Given the description of an element on the screen output the (x, y) to click on. 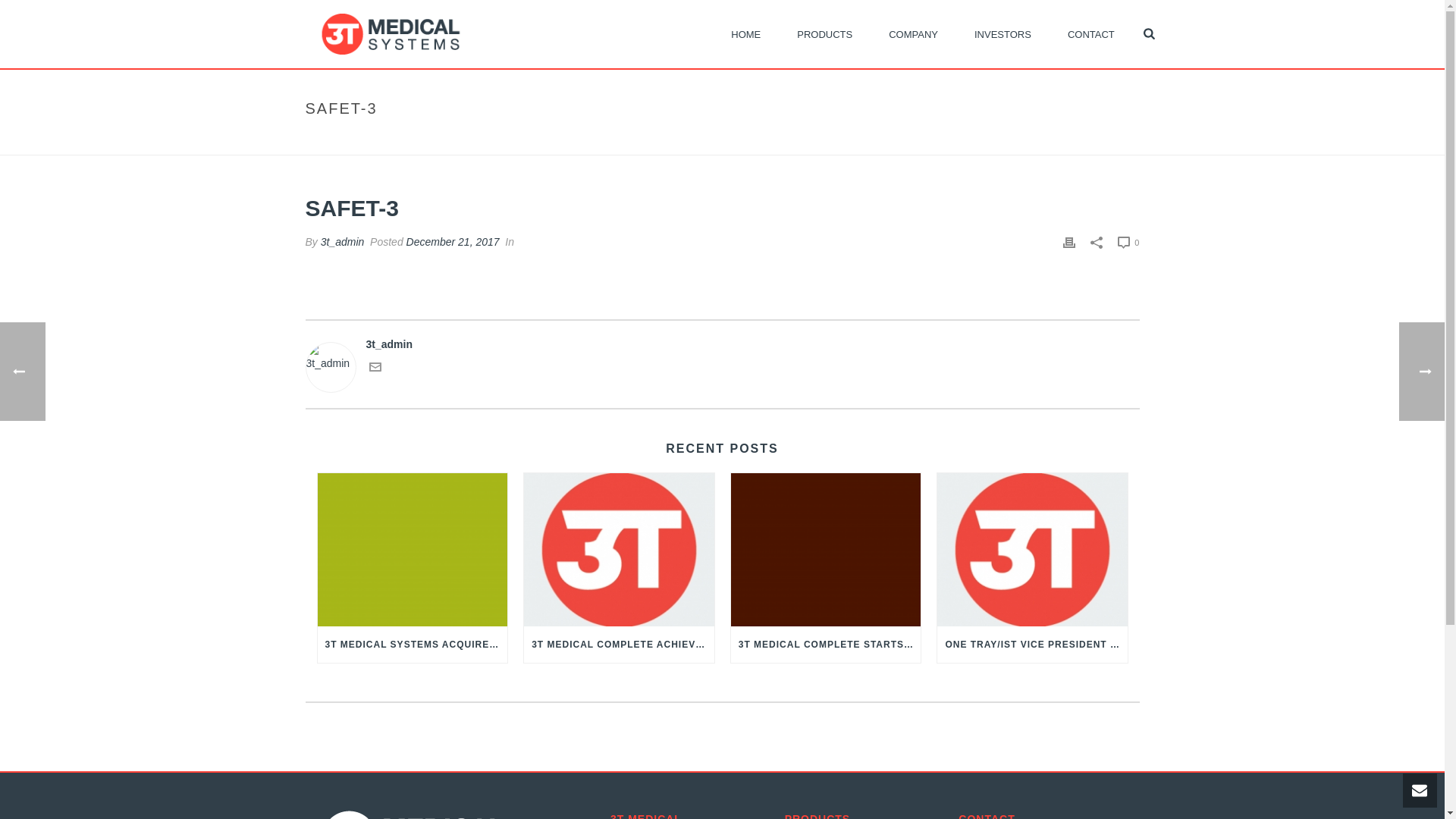
HOME Element type: text (1003, 140)
EDGE SLIDER Element type: text (1055, 140)
INVESTORS Element type: text (1002, 33)
3T Medical Systems Acquires Enterix, Inc. Element type: hover (411, 549)
HOME Element type: text (745, 33)
Get in touch with me via email Element type: hover (374, 369)
3T MEDICAL COMPLETE ACHIEVES ISO 13485:2016 CERTIFICATION Element type: text (619, 644)
COMPANY Element type: text (913, 33)
Print Element type: hover (1069, 242)
3T MEDICAL SYSTEMS ACQUIRES ENTERIX, INC. Element type: text (411, 644)
December 21, 2017 Element type: text (452, 241)
PRODUCTS Element type: text (824, 33)
3t_admin Element type: text (721, 344)
3t_admin Element type: text (342, 241)
CONTACT Element type: text (1091, 33)
3T Medical Complete Achieves ISO 13485:2016 Certification Element type: hover (619, 549)
0 Element type: text (1128, 242)
